Given the description of an element on the screen output the (x, y) to click on. 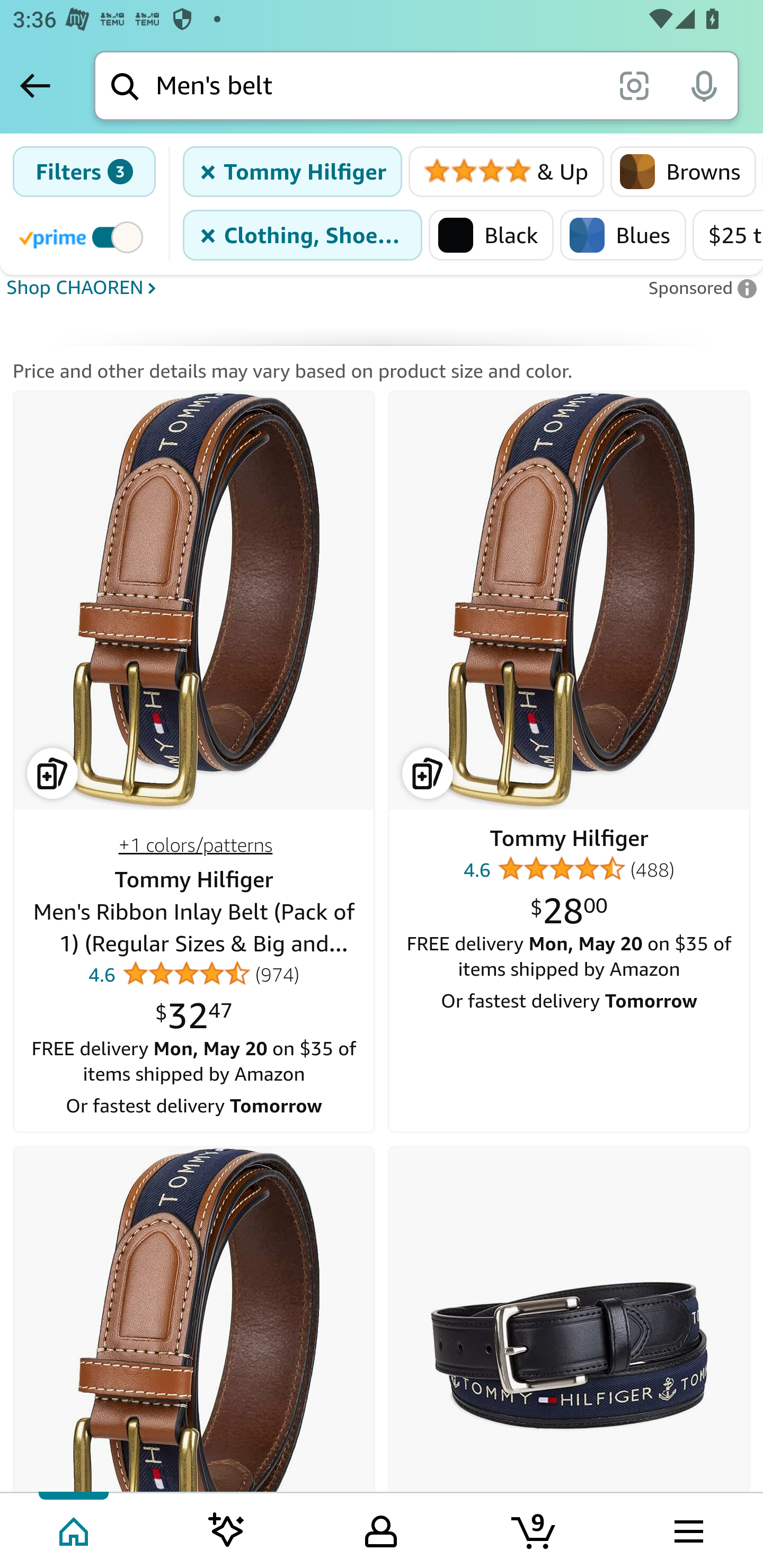
Back (35, 85)
scan it (633, 85)
Filters 3 (83, 171)
× Tommy Hilfiger × Tommy Hilfiger (293, 171)
4 Stars & Up (506, 171)
Browns Browns Browns Browns (683, 171)
Toggle to filter by Prime products Prime Eligible (83, 236)
Black Black Black Black (490, 235)
Blues Blues Blues Blues (622, 235)
$25 to $50 (727, 235)
Shop CHAOREN  Shop  CHAOREN  (321, 285)
Leave feedback on Sponsored ad (701, 287)
More Like This (568, 600)
Tommy Hilfiger (569, 837)
+1 colors/patterns (195, 844)
More Like This (193, 1319)
Home Tab 1 of 5 (75, 1529)
Inspire feed Tab 2 of 5 (227, 1529)
Your Amazon.com Tab 3 of 5 (380, 1529)
Cart 9 items Tab 4 of 5 9 (534, 1529)
Browse menu Tab 5 of 5 (687, 1529)
